Given the description of an element on the screen output the (x, y) to click on. 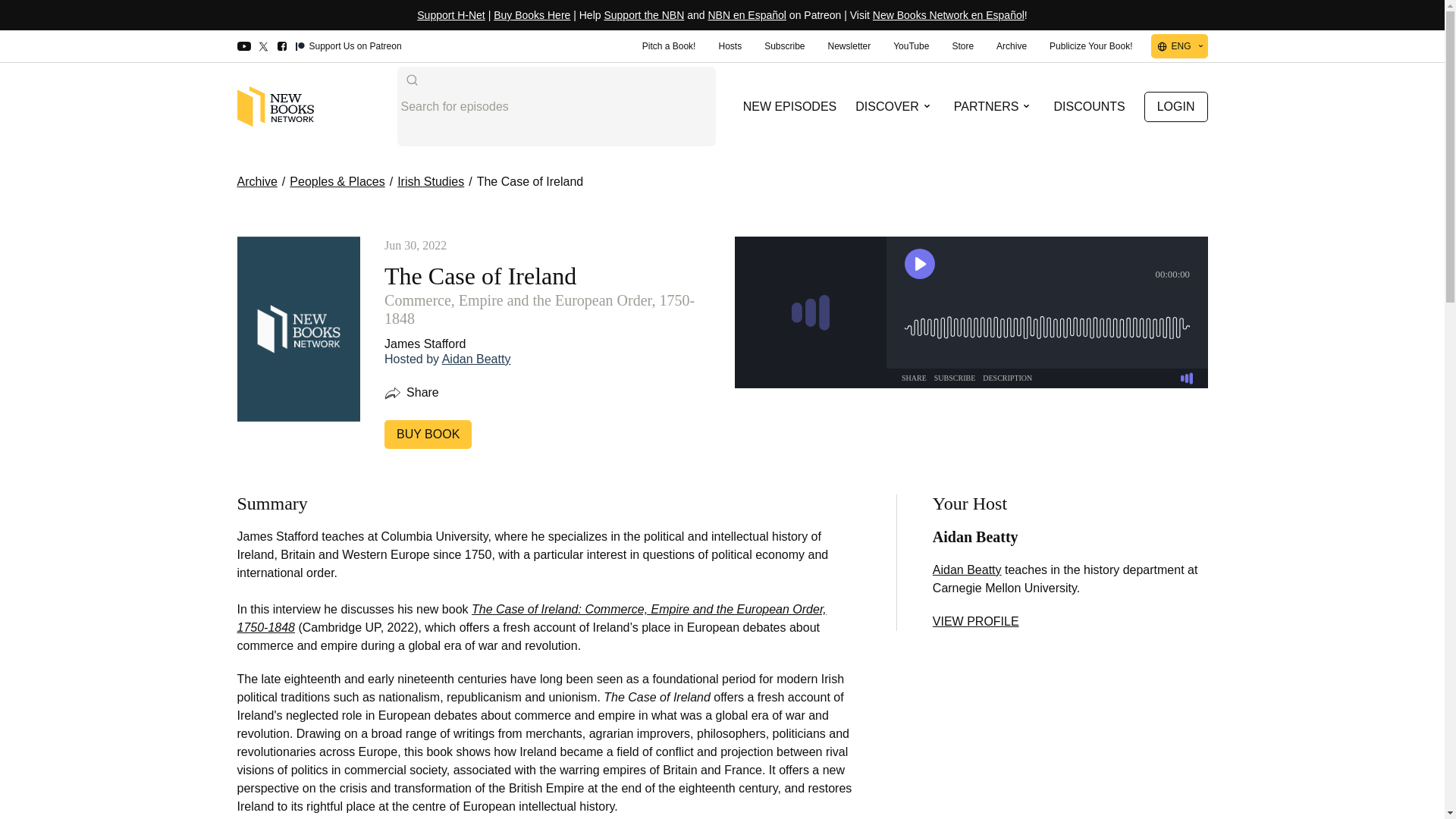
Pitch a Book! (669, 46)
Buy Books Here (531, 15)
Hosts (729, 46)
Newsletter (849, 46)
YouTube (911, 46)
Submit (411, 79)
Support the NBN (644, 15)
Archive (1011, 46)
Subscribe (784, 46)
Store (961, 46)
